Given the description of an element on the screen output the (x, y) to click on. 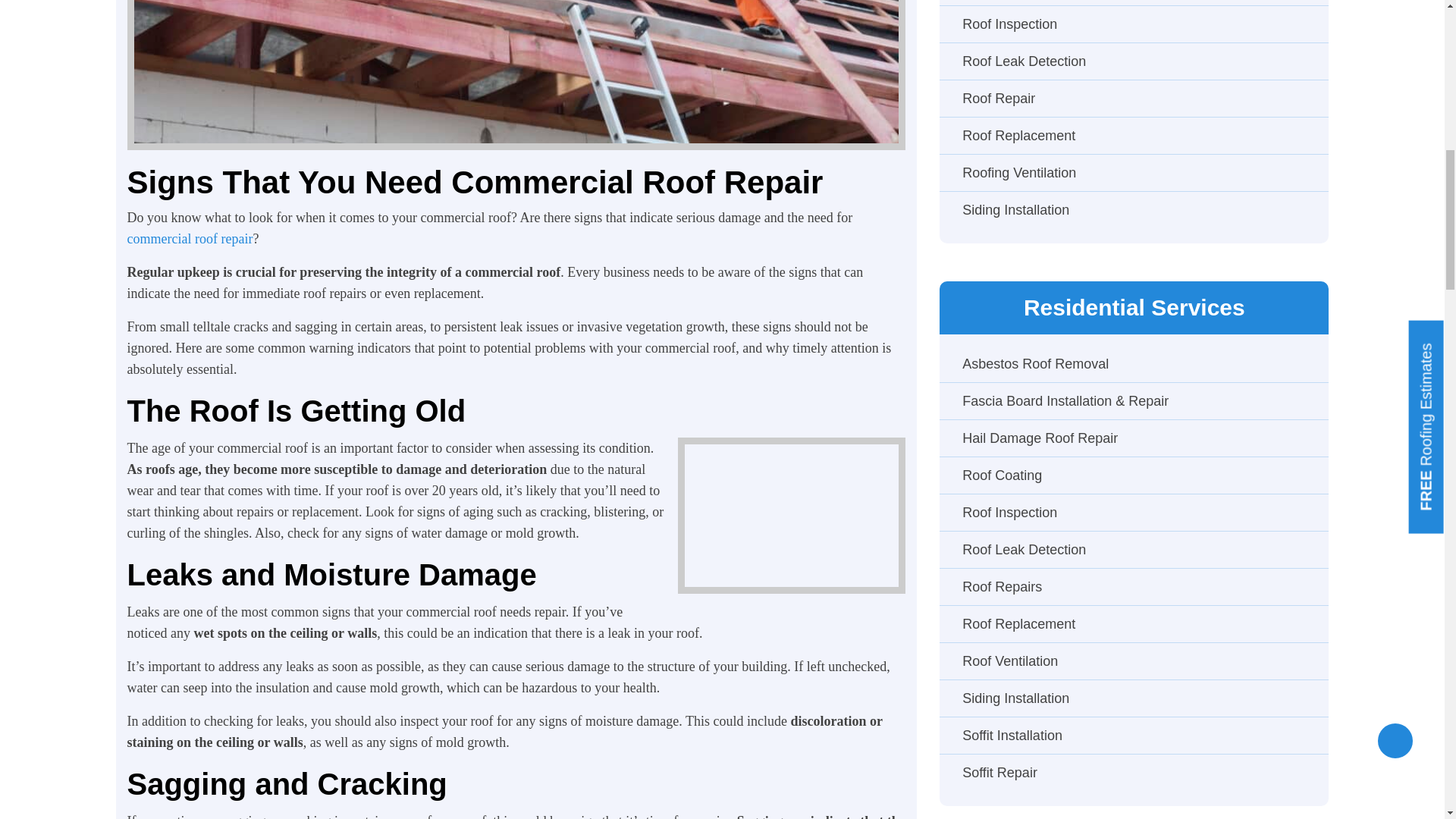
Roof Repair Service (516, 74)
